Given the description of an element on the screen output the (x, y) to click on. 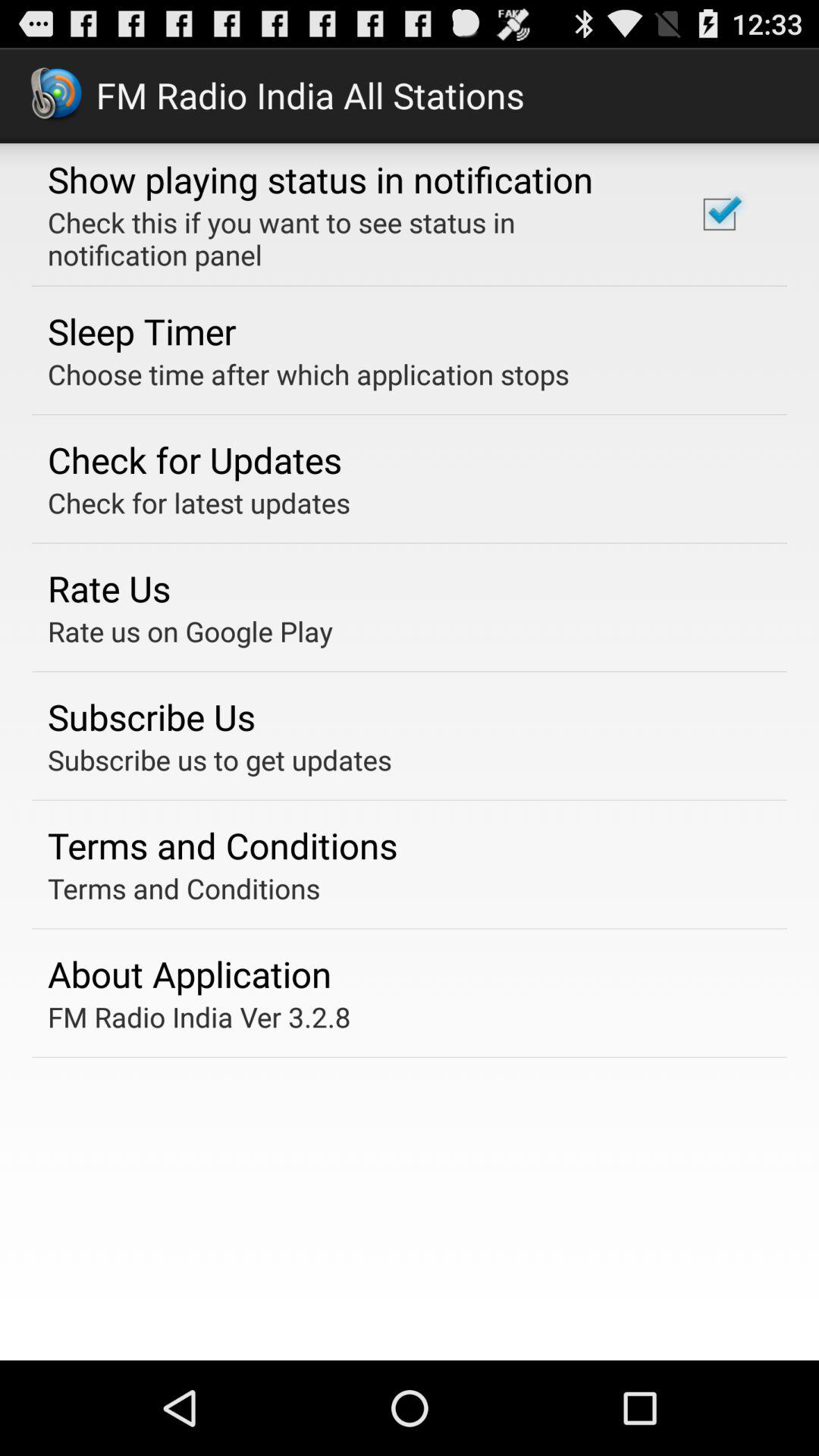
flip until about application app (189, 973)
